Given the description of an element on the screen output the (x, y) to click on. 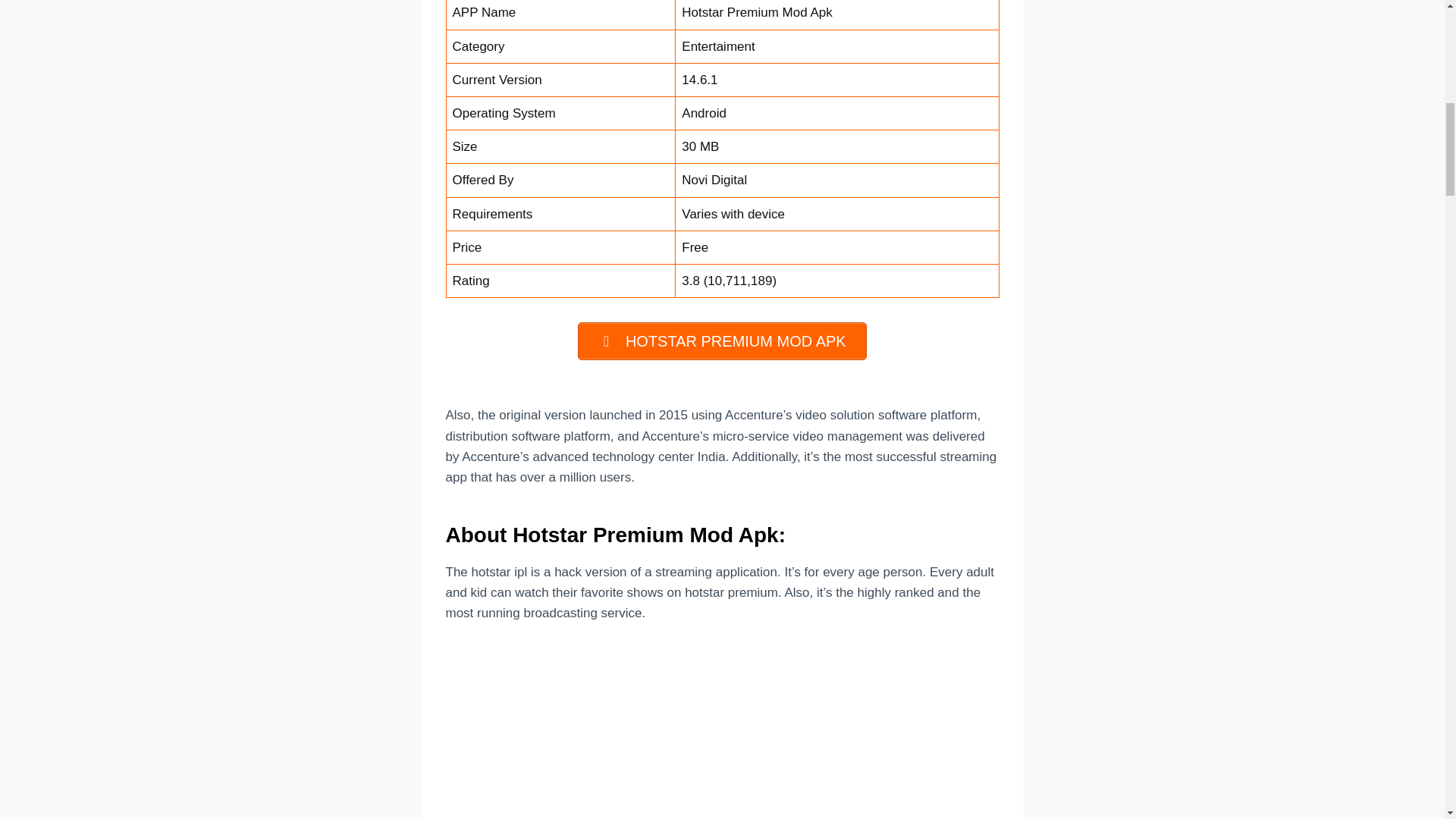
HOTSTAR PREMIUM MOD APK (722, 341)
